Given the description of an element on the screen output the (x, y) to click on. 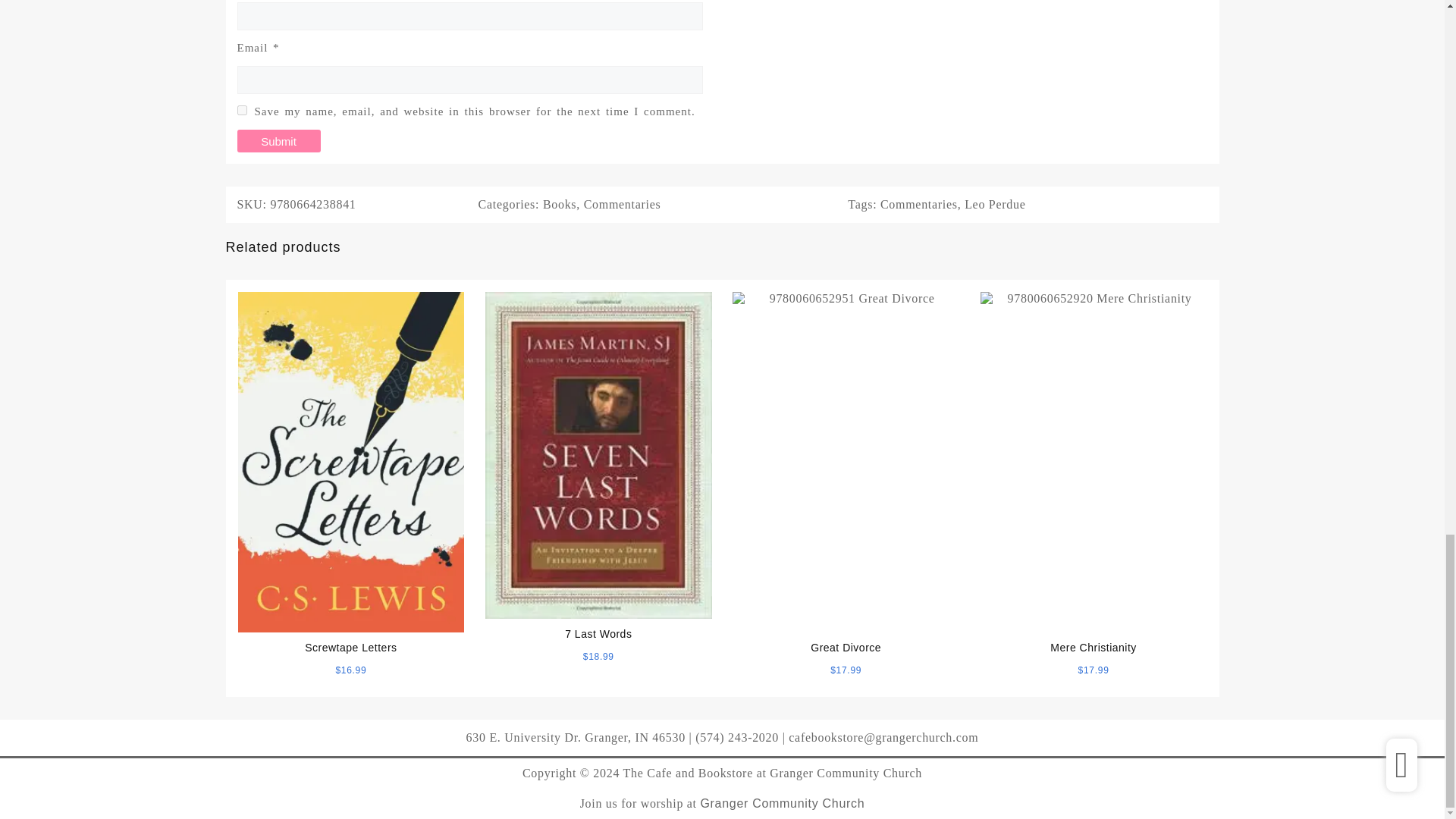
Submit (277, 140)
yes (240, 110)
